Given the description of an element on the screen output the (x, y) to click on. 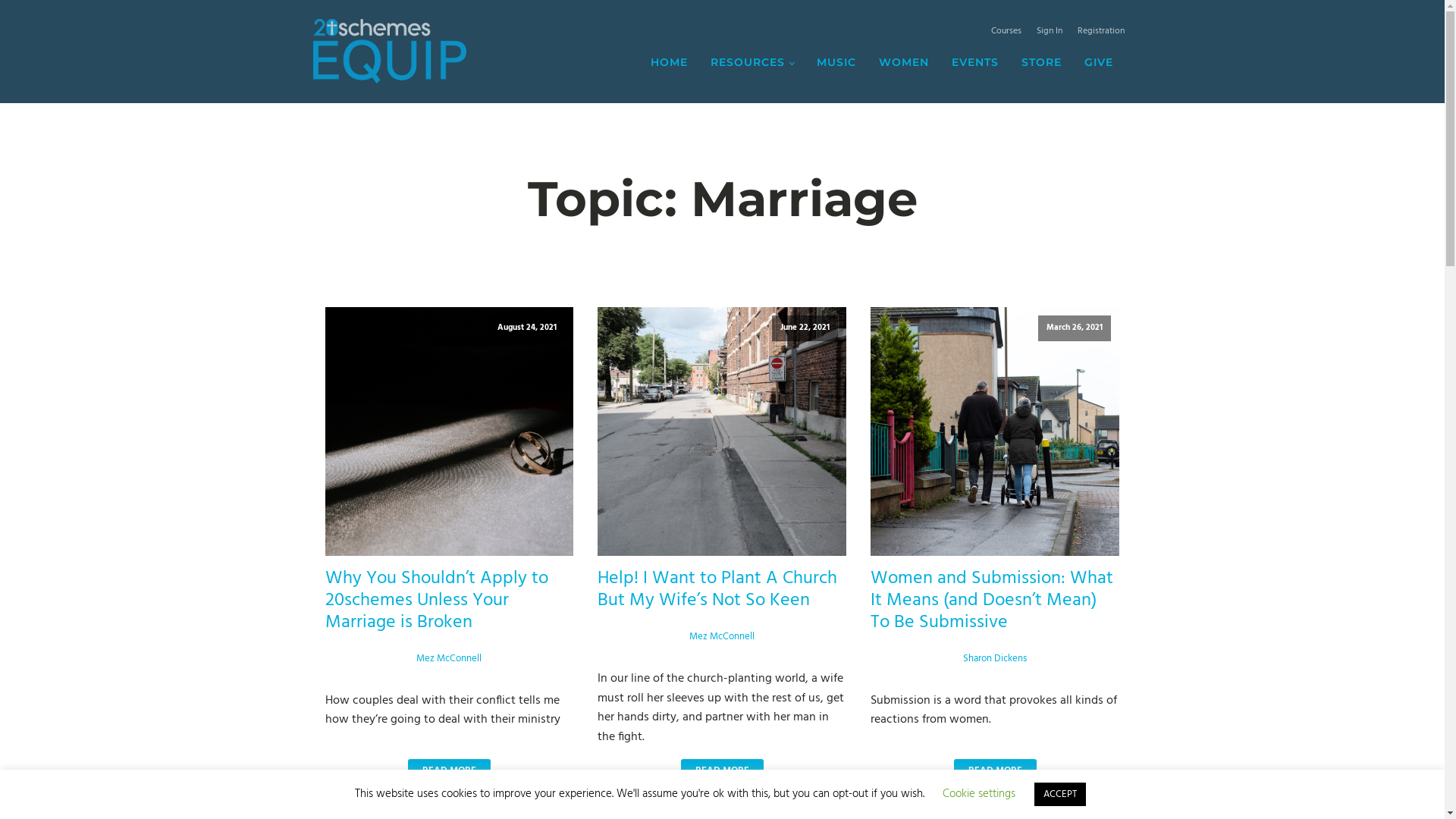
WOMEN Element type: text (903, 62)
STORE Element type: text (1040, 62)
GIVE Element type: text (1098, 62)
ACCEPT Element type: text (1059, 794)
READ MORE Element type: text (448, 771)
Mez McConnell Element type: text (448, 658)
READ MORE Element type: text (994, 771)
March 26, 2021 Element type: text (994, 431)
Courses Element type: text (1005, 35)
READ MORE Element type: text (721, 771)
Registration Element type: text (1100, 35)
Sign In Element type: text (1048, 35)
Mez McConnell Element type: text (721, 636)
HOME Element type: text (668, 62)
June 22, 2021 Element type: text (721, 431)
MUSIC Element type: text (835, 62)
EVENTS Element type: text (973, 62)
Cookie settings Element type: text (978, 793)
RESOURCES Element type: text (751, 62)
August 24, 2021 Element type: text (448, 431)
Sharon Dickens Element type: text (994, 658)
